Given the description of an element on the screen output the (x, y) to click on. 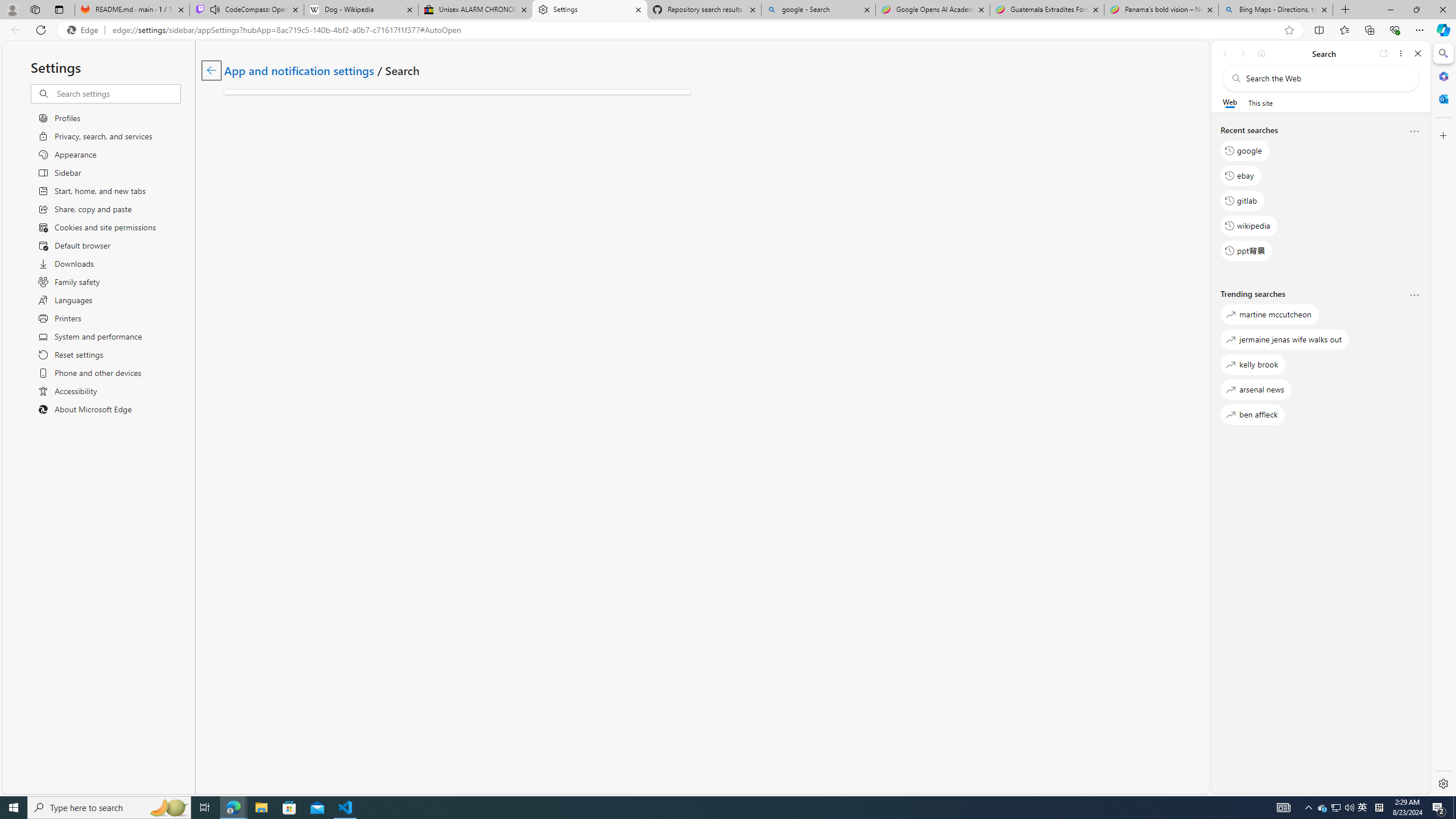
ebay (1240, 175)
Edge (84, 29)
martine mccutcheon (1269, 314)
google (1244, 150)
wikipedia (1249, 225)
ben affleck (1252, 414)
arsenal news (1255, 389)
